Given the description of an element on the screen output the (x, y) to click on. 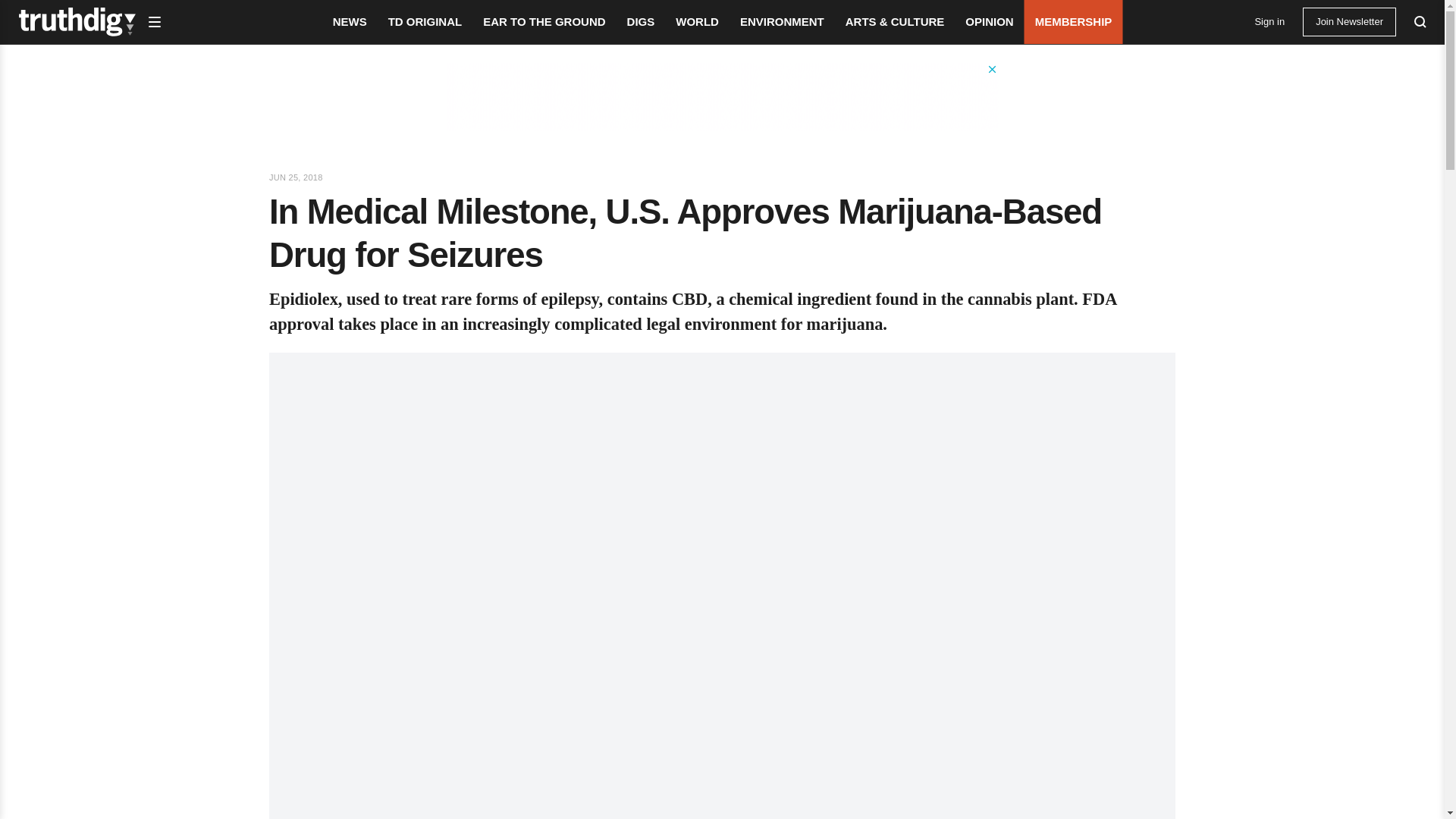
3rd party ad content (721, 97)
